Given the description of an element on the screen output the (x, y) to click on. 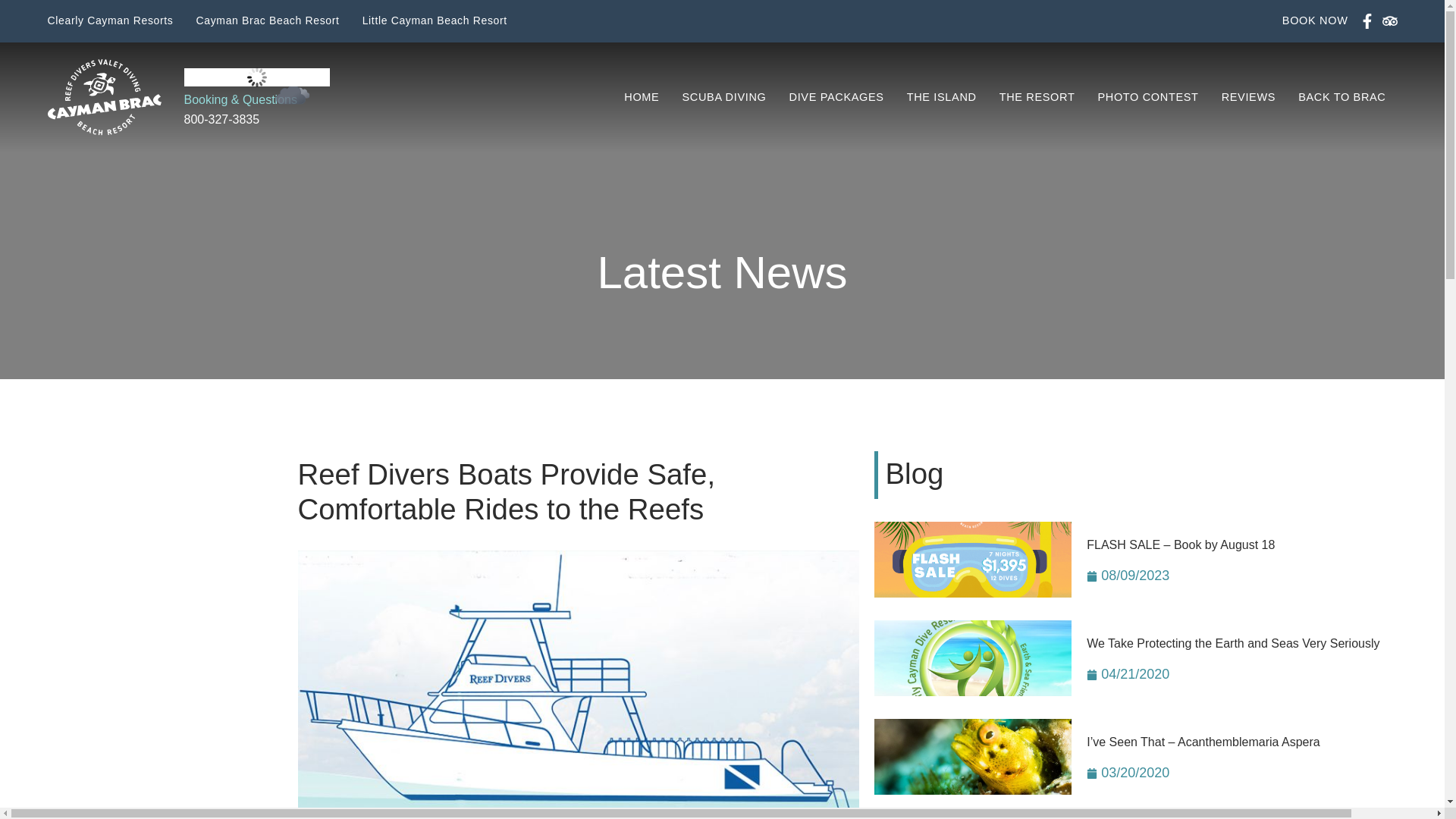
Little Cayman Beach Resort (434, 21)
PHOTO CONTEST (1147, 96)
Cayman Brac Beach Resort (267, 21)
Clearly Cayman Resorts (109, 21)
800-327-3835 (221, 119)
DIVE PACKAGES (836, 96)
THE RESORT (1037, 96)
SCUBA DIVING (723, 96)
HOME (640, 96)
BOOK NOW (1315, 21)
